Given the description of an element on the screen output the (x, y) to click on. 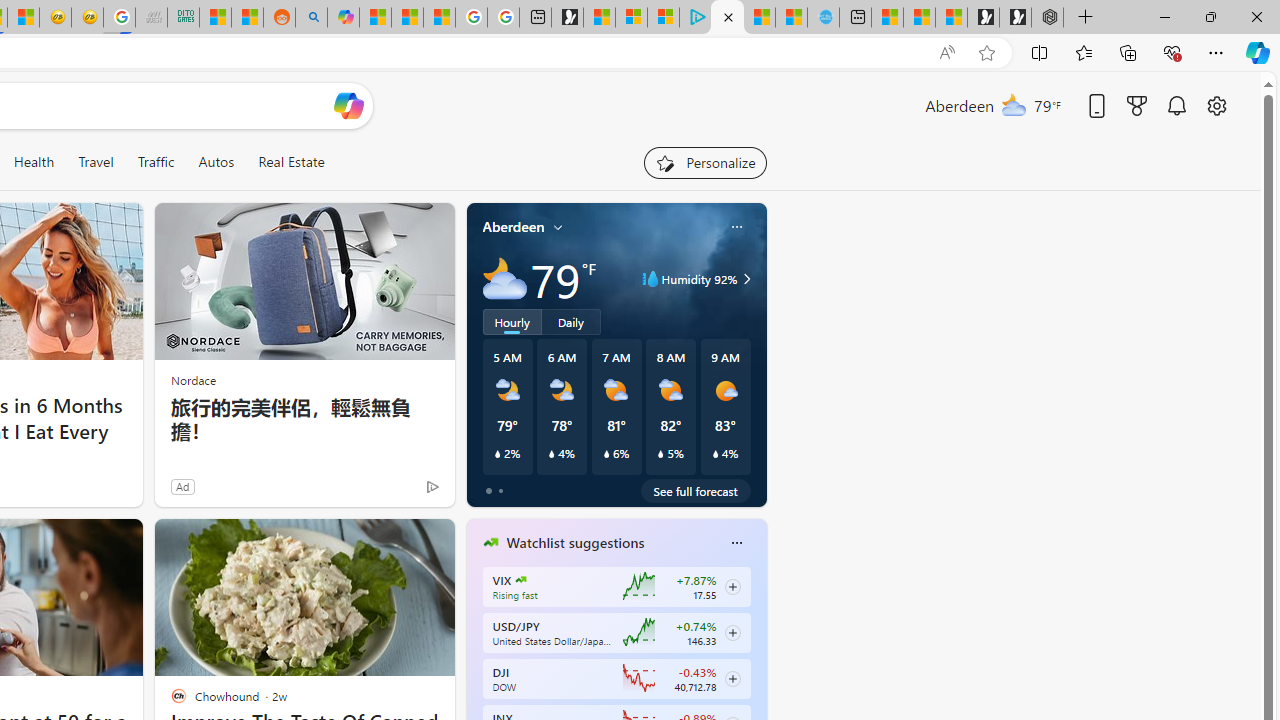
Aberdeen (513, 227)
tab-1 (500, 490)
Humidity 92% (744, 278)
Mostly cloudy (504, 278)
Class: weather-current-precipitation-glyph (715, 453)
My location (558, 227)
